Given the description of an element on the screen output the (x, y) to click on. 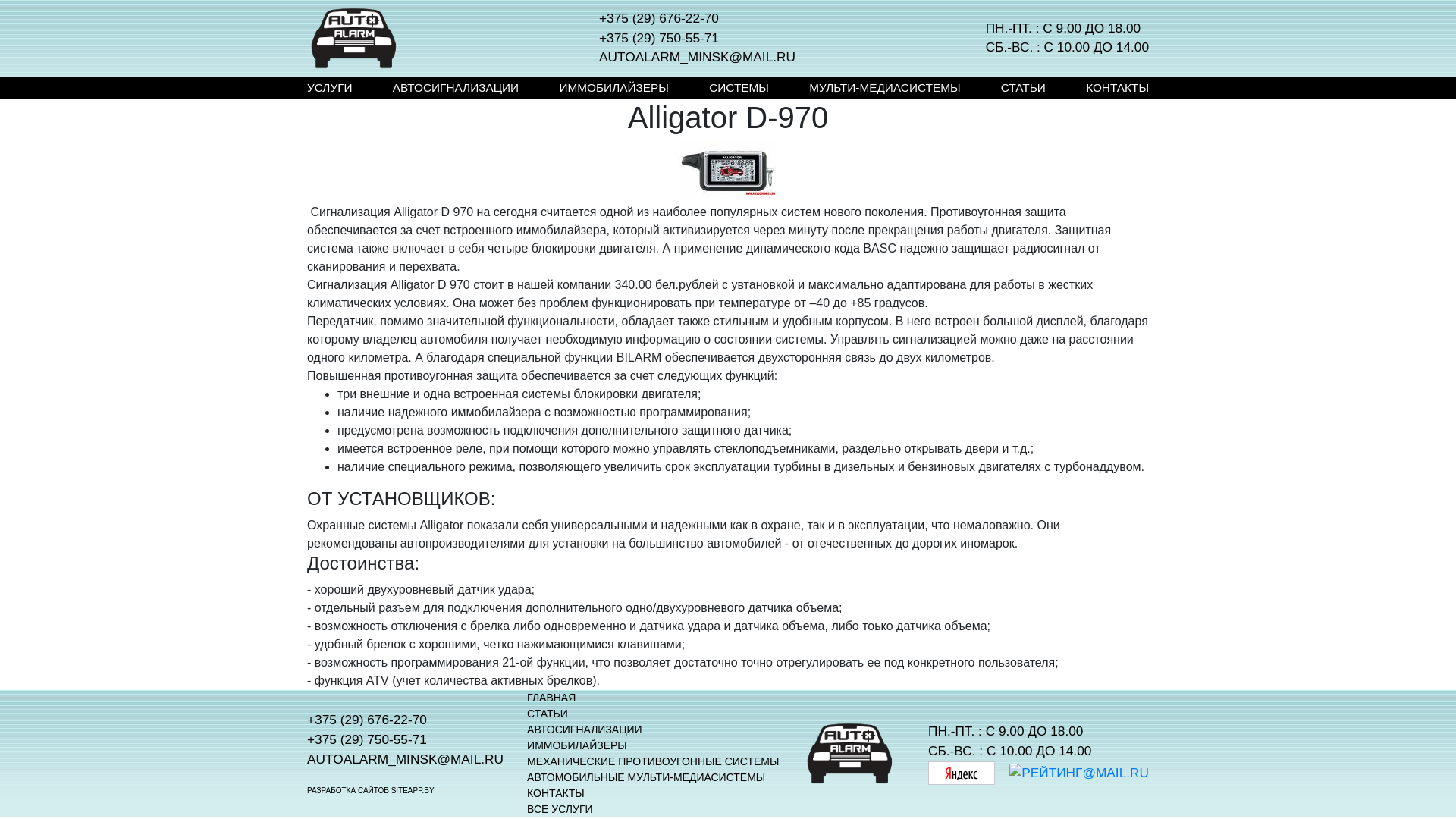
+375 (29) 750-55-71 Element type: text (405, 739)
AUTOALARM_MINSK@MAIL.RU Element type: text (697, 57)
+375 (29) 750-55-71 Element type: text (697, 38)
+375 (29) 676-22-70 Element type: text (697, 18)
AUTOALARM_MINSK@MAIL.RU Element type: text (405, 759)
+375 (29) 676-22-70 Element type: text (405, 720)
